Given the description of an element on the screen output the (x, y) to click on. 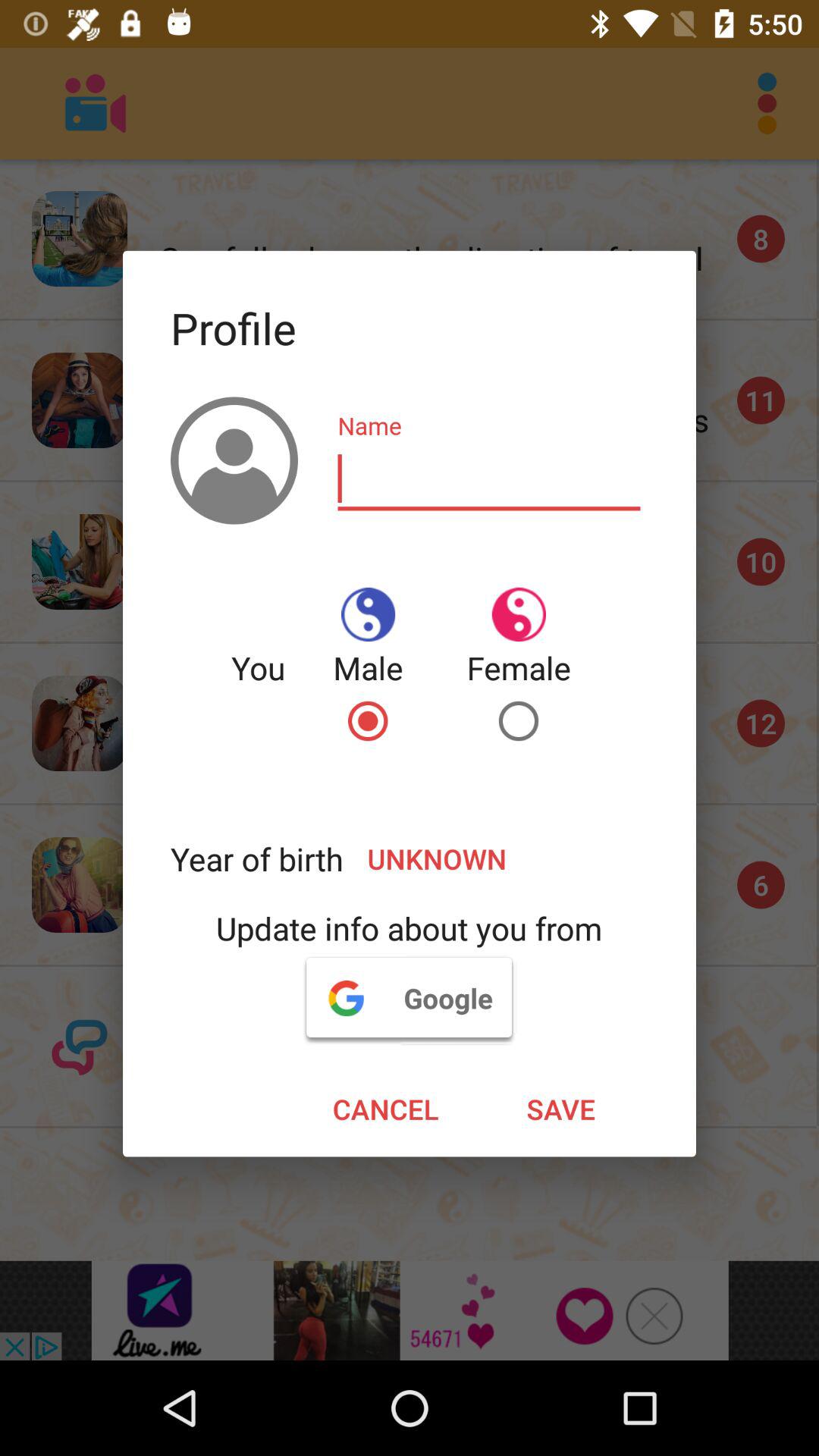
scroll until the cancel (385, 1108)
